Given the description of an element on the screen output the (x, y) to click on. 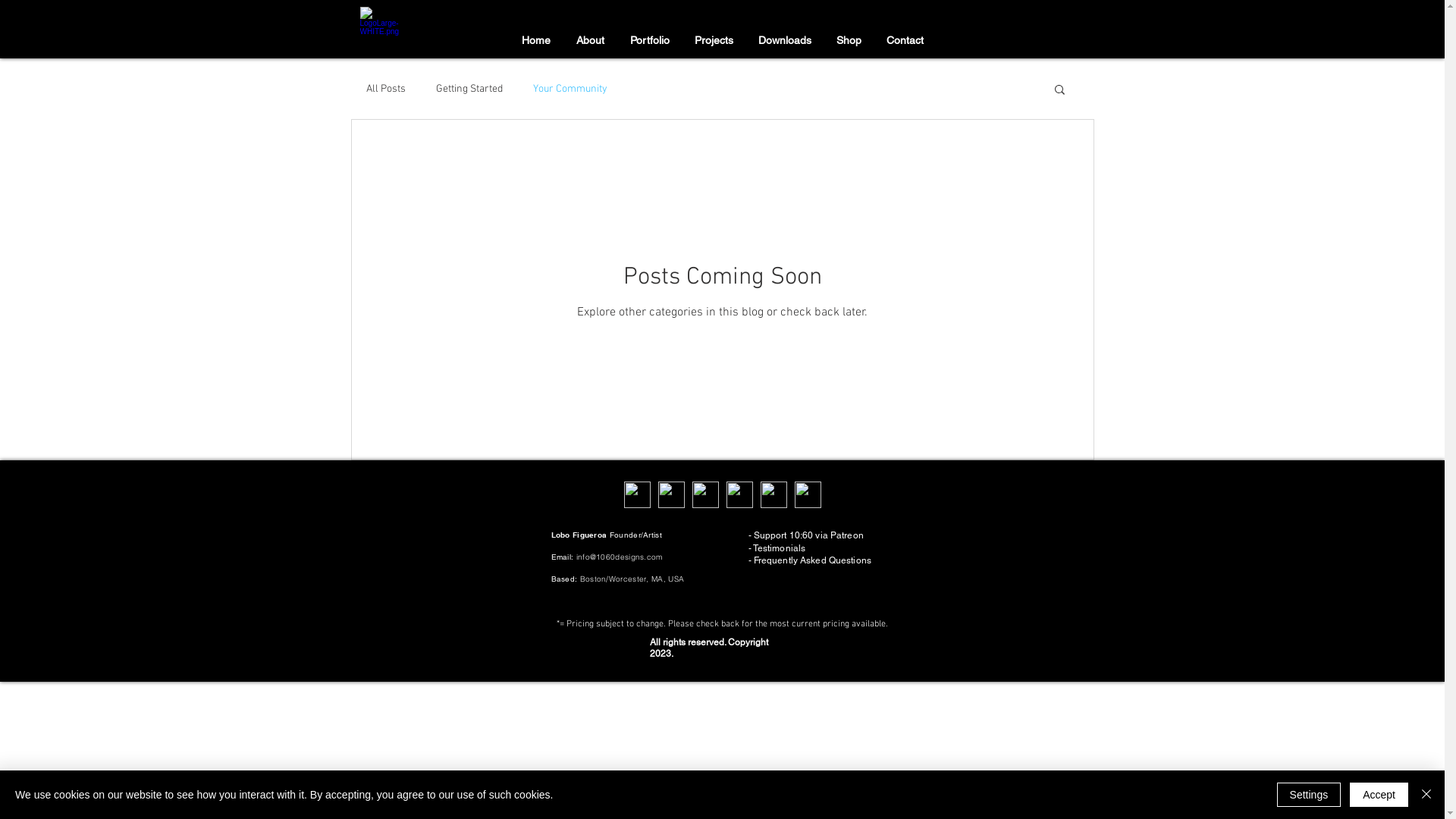
Support 10:60 via Patreon Element type: text (808, 535)
Contact Element type: text (904, 40)
Downloads Element type: text (785, 40)
Getting Started Element type: text (468, 87)
Testimonials Element type: text (779, 547)
Settings Element type: text (1309, 794)
Portfolio Element type: text (649, 40)
Frequently Asked Questions Element type: text (812, 560)
Accept Element type: text (1378, 794)
info@1060designs.com Element type: text (619, 556)
Home Element type: text (535, 40)
All Posts Element type: text (384, 87)
Your Community Element type: text (569, 87)
Cart
0 Element type: text (1005, 40)
About Element type: text (589, 40)
Shop Element type: text (848, 40)
